Given the description of an element on the screen output the (x, y) to click on. 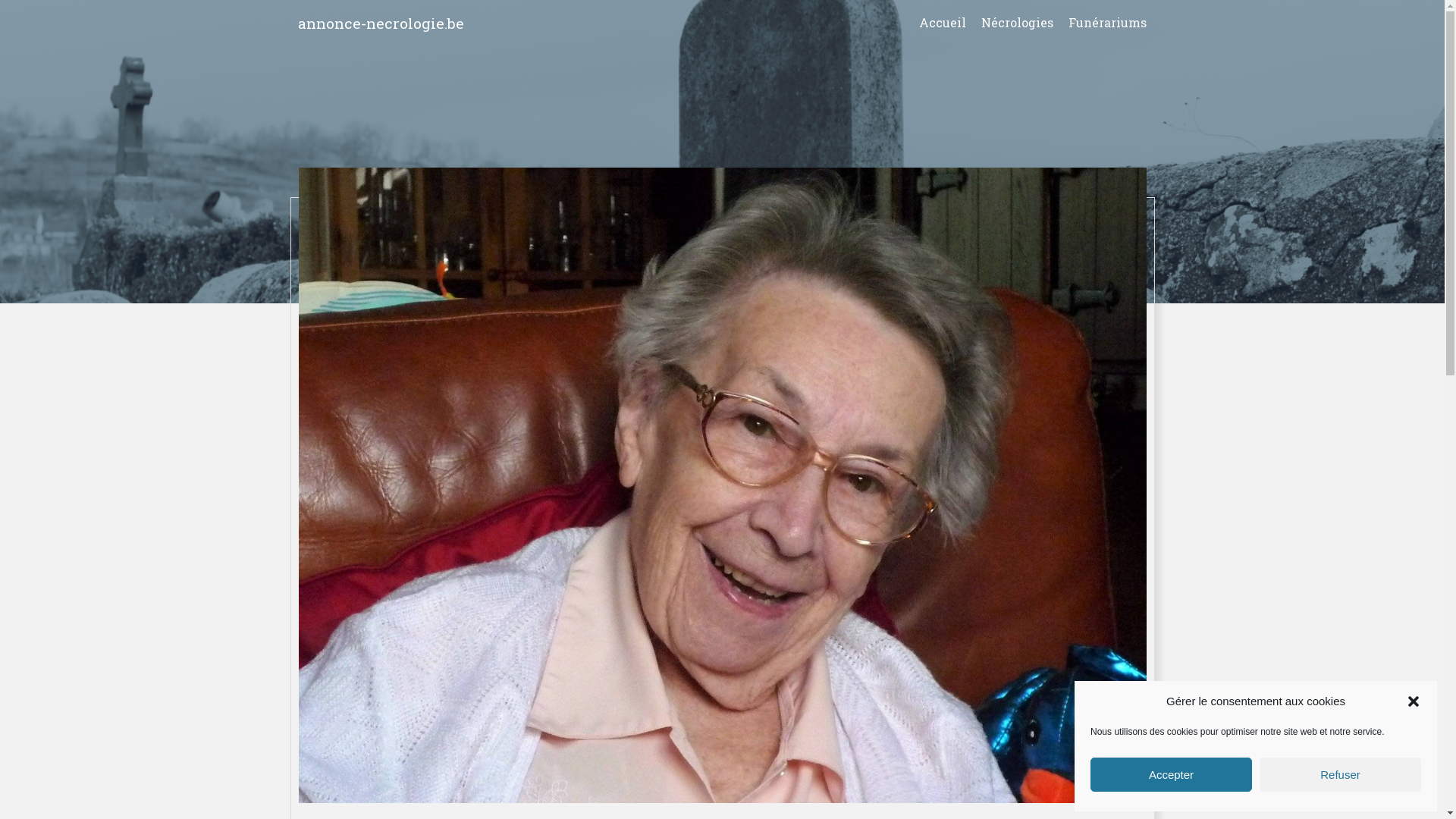
annonce-necrologie.be Element type: text (380, 22)
Accueil Element type: text (942, 22)
Accepter Element type: text (1171, 774)
Refuser Element type: text (1340, 774)
